Given the description of an element on the screen output the (x, y) to click on. 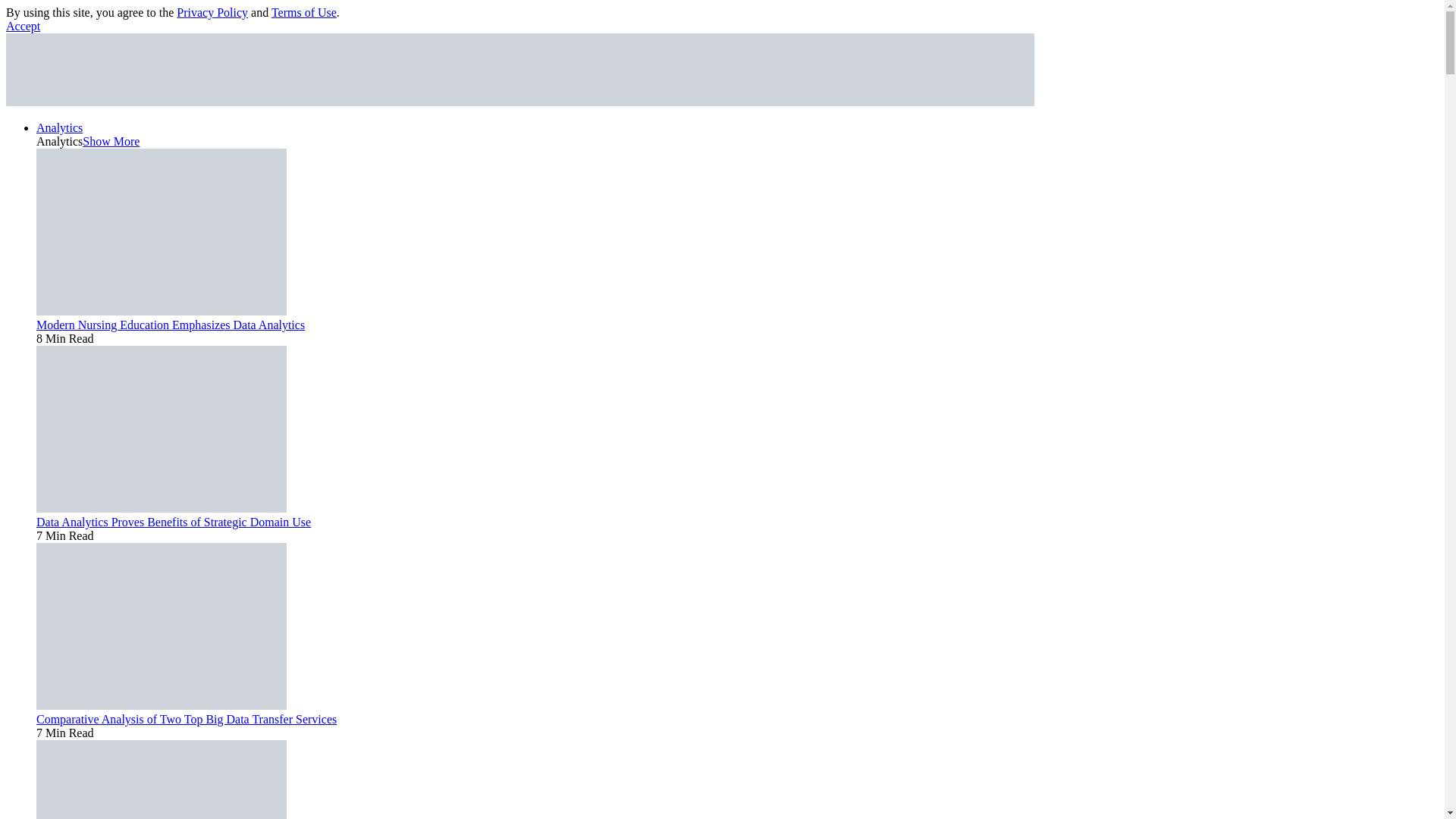
Data Analytics Proves Benefits of Strategic Domain Use (173, 521)
SmartData Collective (519, 101)
Modern Nursing Education Emphasizes Data Analytics (161, 310)
Comparative Analysis of Two Top Big Data Transfer Services (186, 718)
Accept (22, 25)
Privacy Policy (211, 11)
Analytics (59, 127)
Modern Nursing Education Emphasizes Data Analytics (170, 324)
Data Analytics Proves Benefits of Strategic Domain Use (161, 508)
Comparative Analysis of Two Top Big Data Transfer Services (161, 705)
Terms of Use (303, 11)
Show More (110, 141)
